Given the description of an element on the screen output the (x, y) to click on. 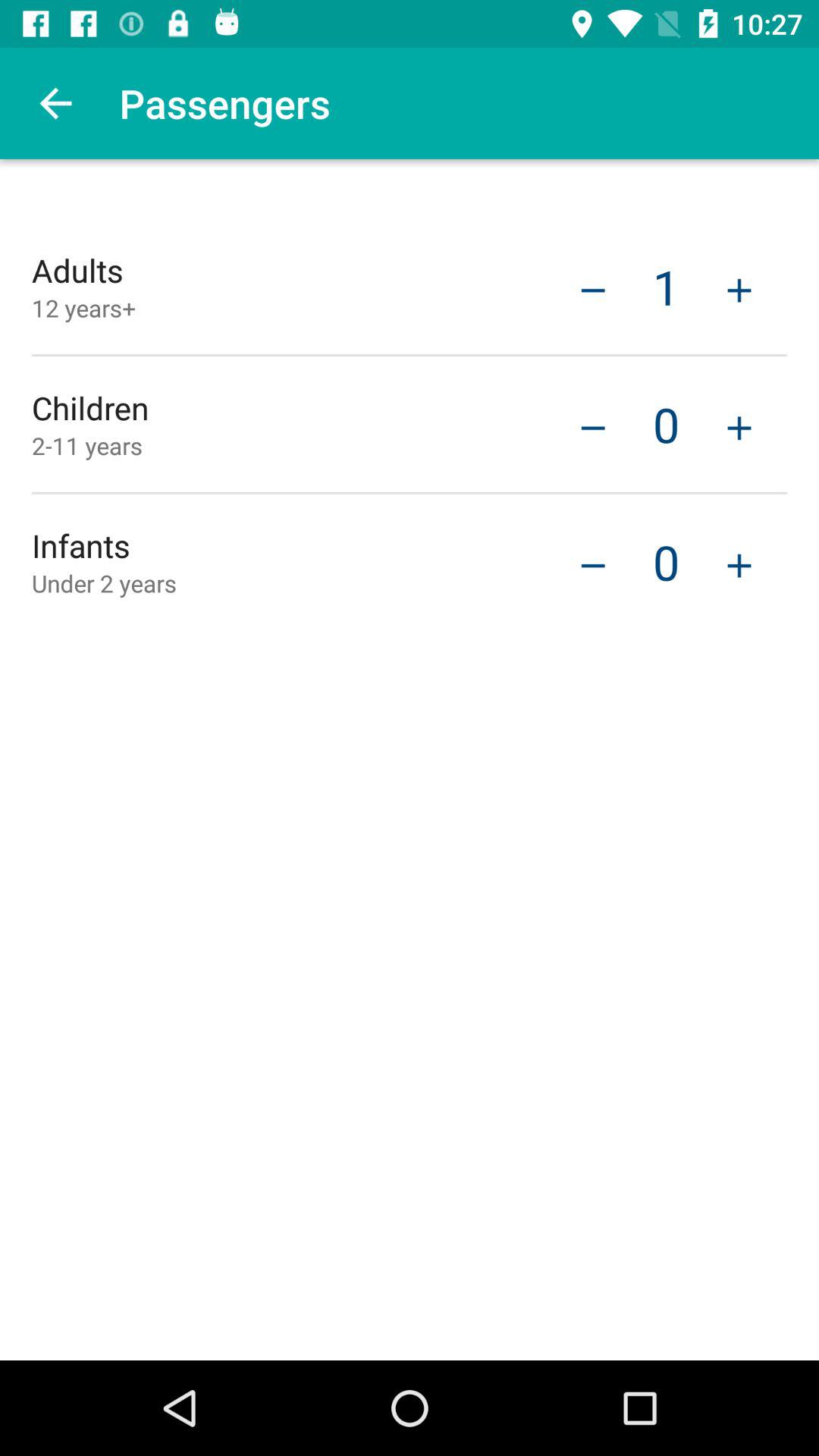
add an adult passenger (739, 288)
